Given the description of an element on the screen output the (x, y) to click on. 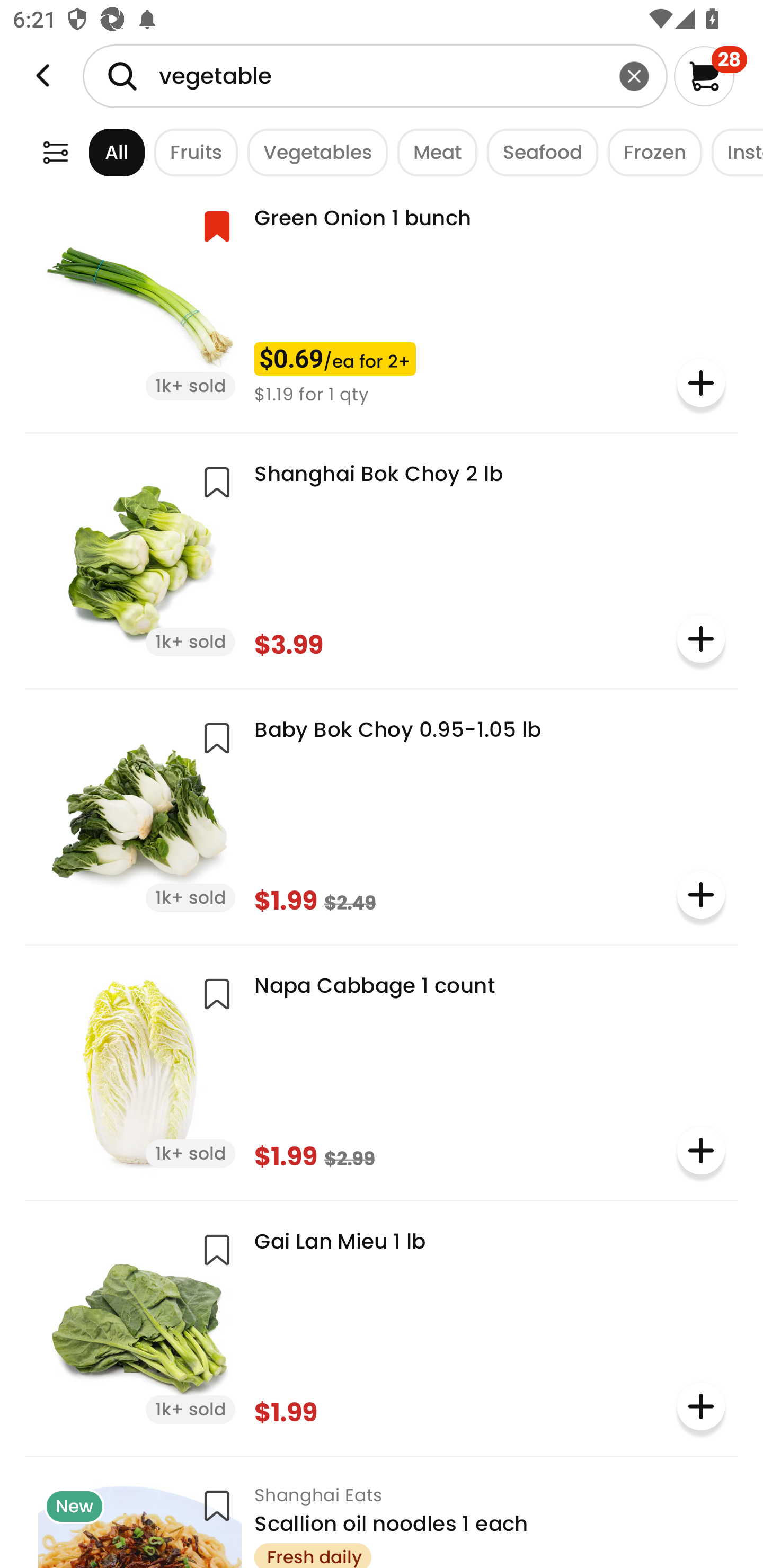
vegetable (374, 75)
28 (709, 75)
Weee! (42, 76)
Weee! (55, 151)
All (99, 151)
Fruits (191, 151)
Vegetables (312, 151)
Meat (432, 151)
Seafood (537, 151)
Frozen (649, 151)
Instant (732, 151)
Shanghai Bok Choy 2 lb 1k+ sold $3.99 (381, 559)
Baby Bok Choy 0.95-1.05 lb 1k+ sold $1.99 $2.49 (381, 815)
Napa Cabbage 1 count 1k+ sold $1.99 $2.99 (381, 1070)
Gai Lan Mieu 1 lb 1k+ sold $1.99 (381, 1326)
